Given the description of an element on the screen output the (x, y) to click on. 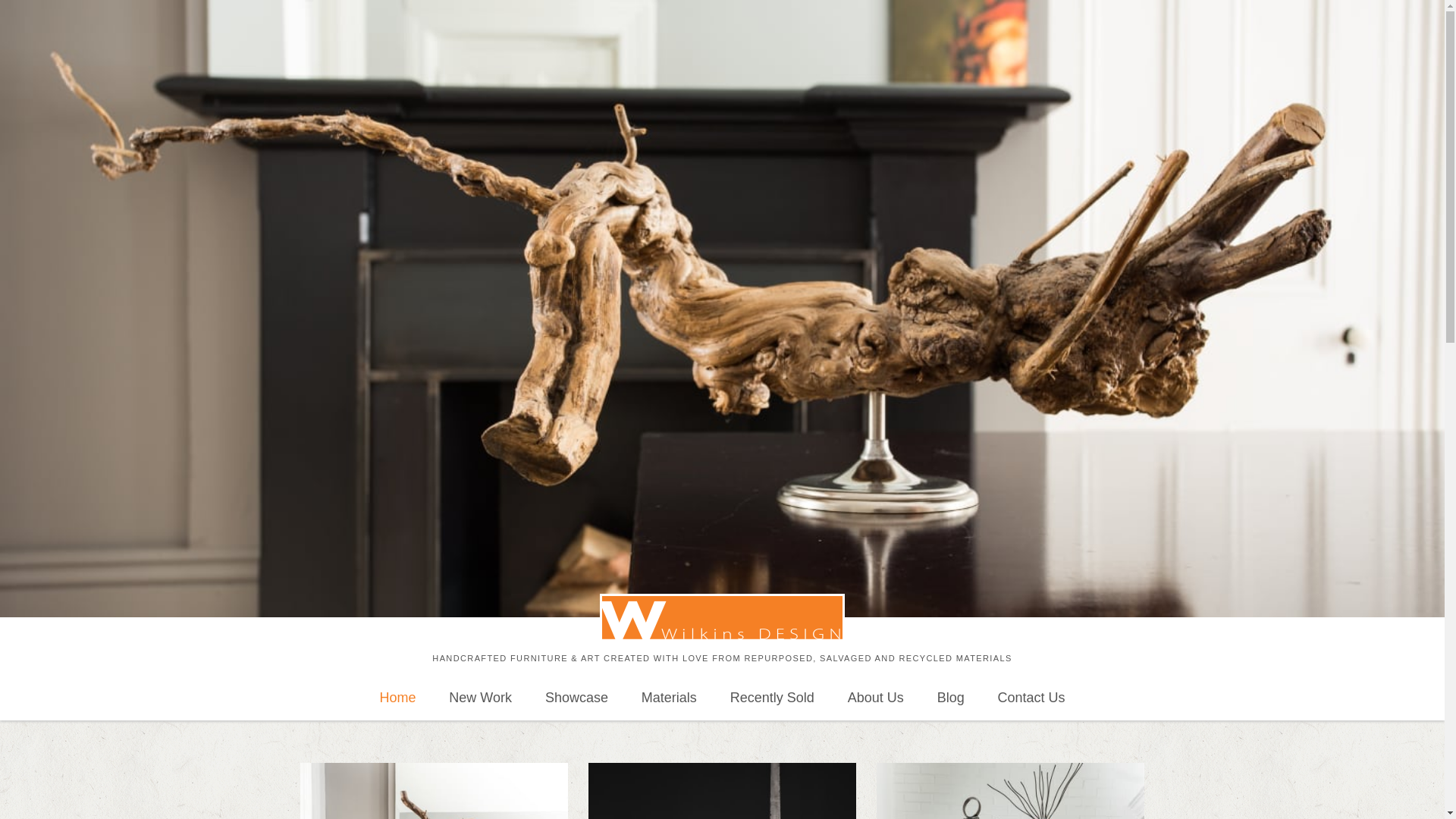
Materials (668, 697)
Recently Sold (771, 697)
Blog (950, 697)
Sold Items Wilkins Design (771, 697)
New Salvaged Furniture (480, 697)
New Work (480, 697)
Home (397, 697)
About Us (875, 697)
Showcase (576, 697)
Contact Us (1031, 697)
